Given the description of an element on the screen output the (x, y) to click on. 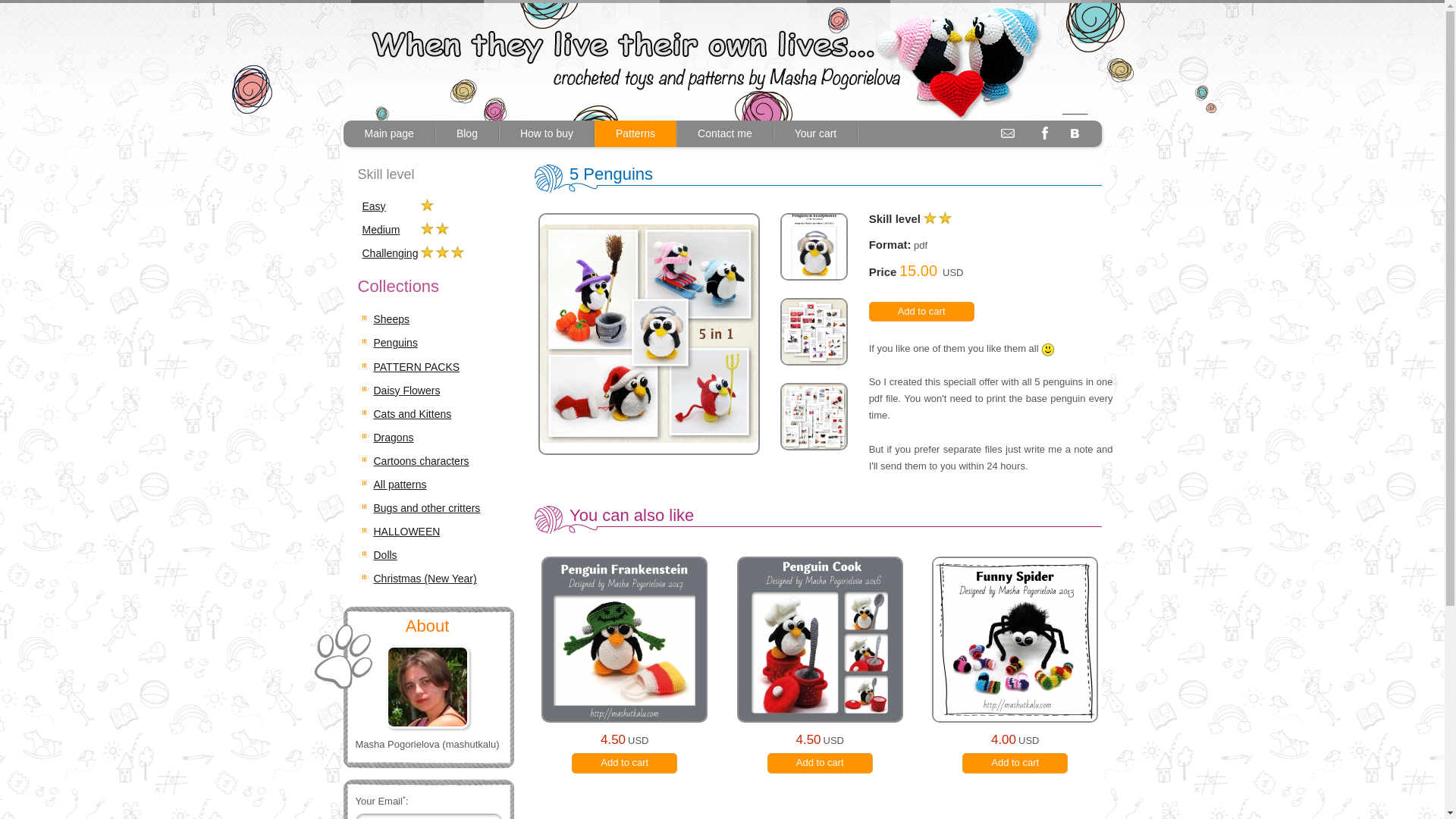
Funny Spider (1014, 664)
Penguin Frank (624, 664)
Add to cart (921, 312)
PATTERN PACKS (416, 367)
Add to cart (624, 762)
Challenging (390, 253)
contacts (1007, 132)
Dolls (384, 554)
Main page (387, 133)
Add to cart (819, 762)
How to buy (546, 133)
fb (1044, 132)
Penguin Cook (819, 664)
Easy (373, 205)
Cartoons characters (420, 460)
